Given the description of an element on the screen output the (x, y) to click on. 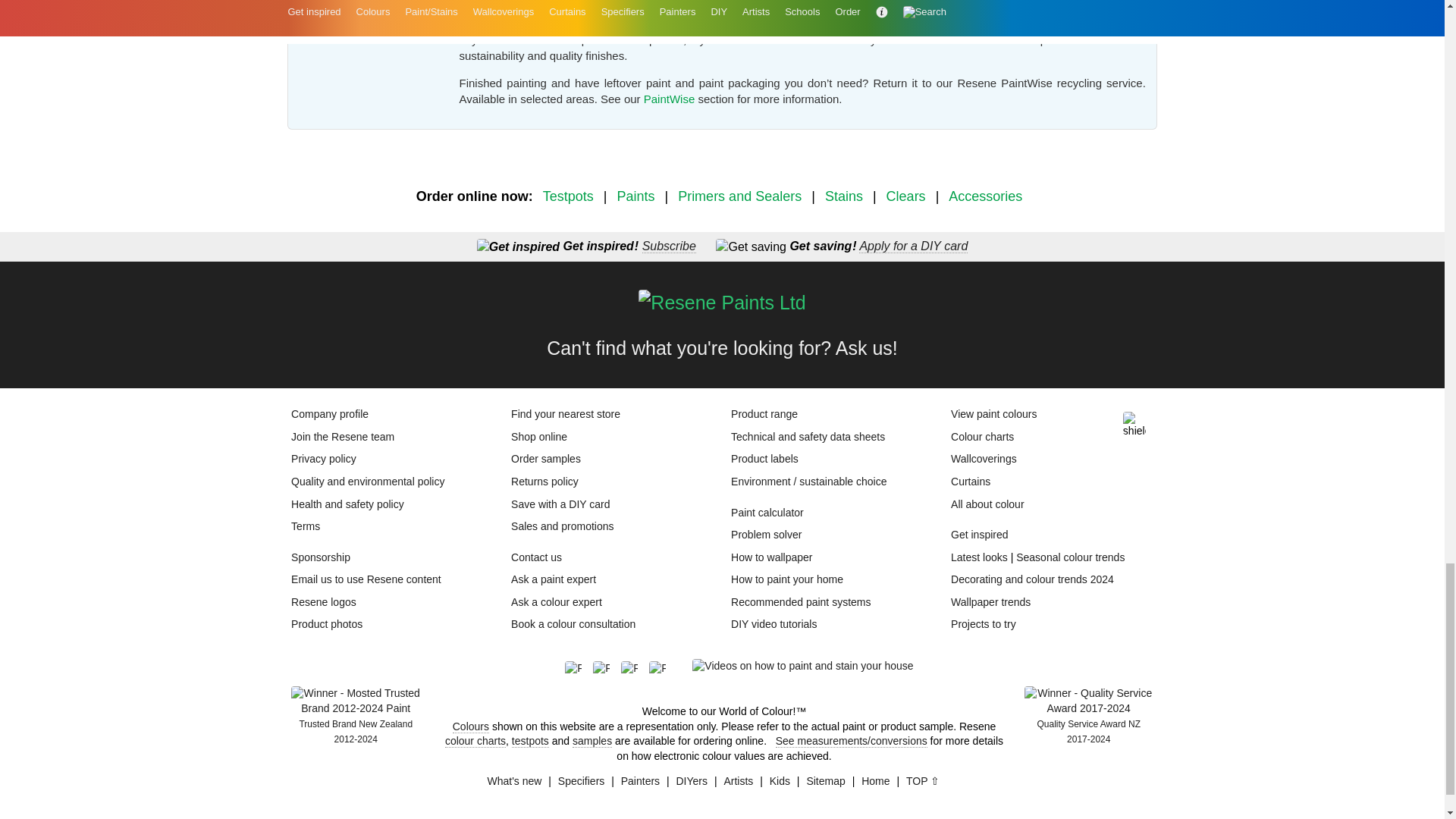
View DIY Videos (802, 666)
Follow us on Facebook (578, 669)
Follow us on Pinterest (606, 669)
Follow us on YouTube (663, 669)
Follow us on Instagram (635, 669)
